Given the description of an element on the screen output the (x, y) to click on. 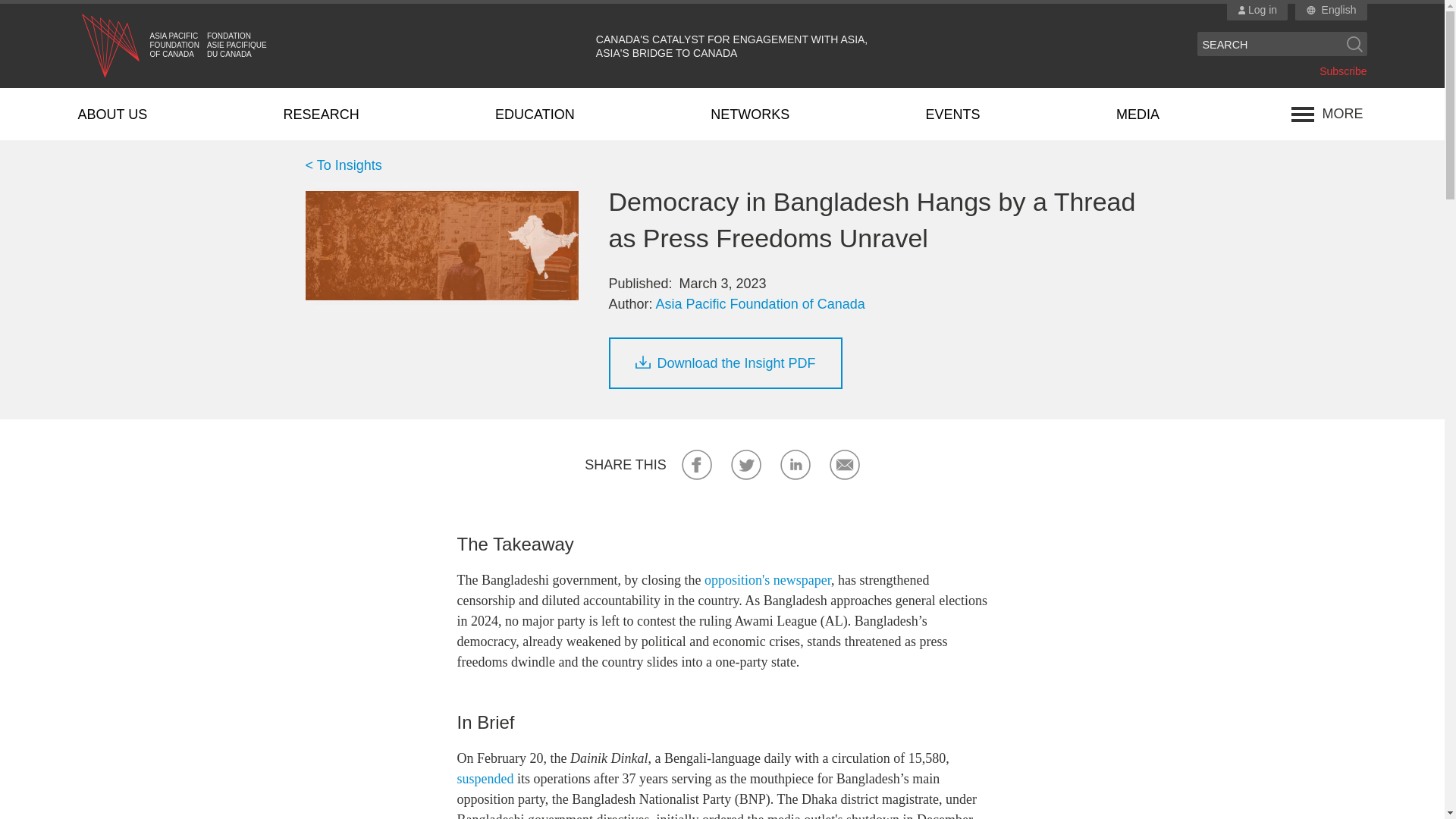
Share by Email (844, 464)
Subscribe (1343, 70)
SEARCH (1269, 43)
English (1339, 10)
Log in (1257, 10)
Search (1353, 44)
Search (1353, 44)
